Given the description of an element on the screen output the (x, y) to click on. 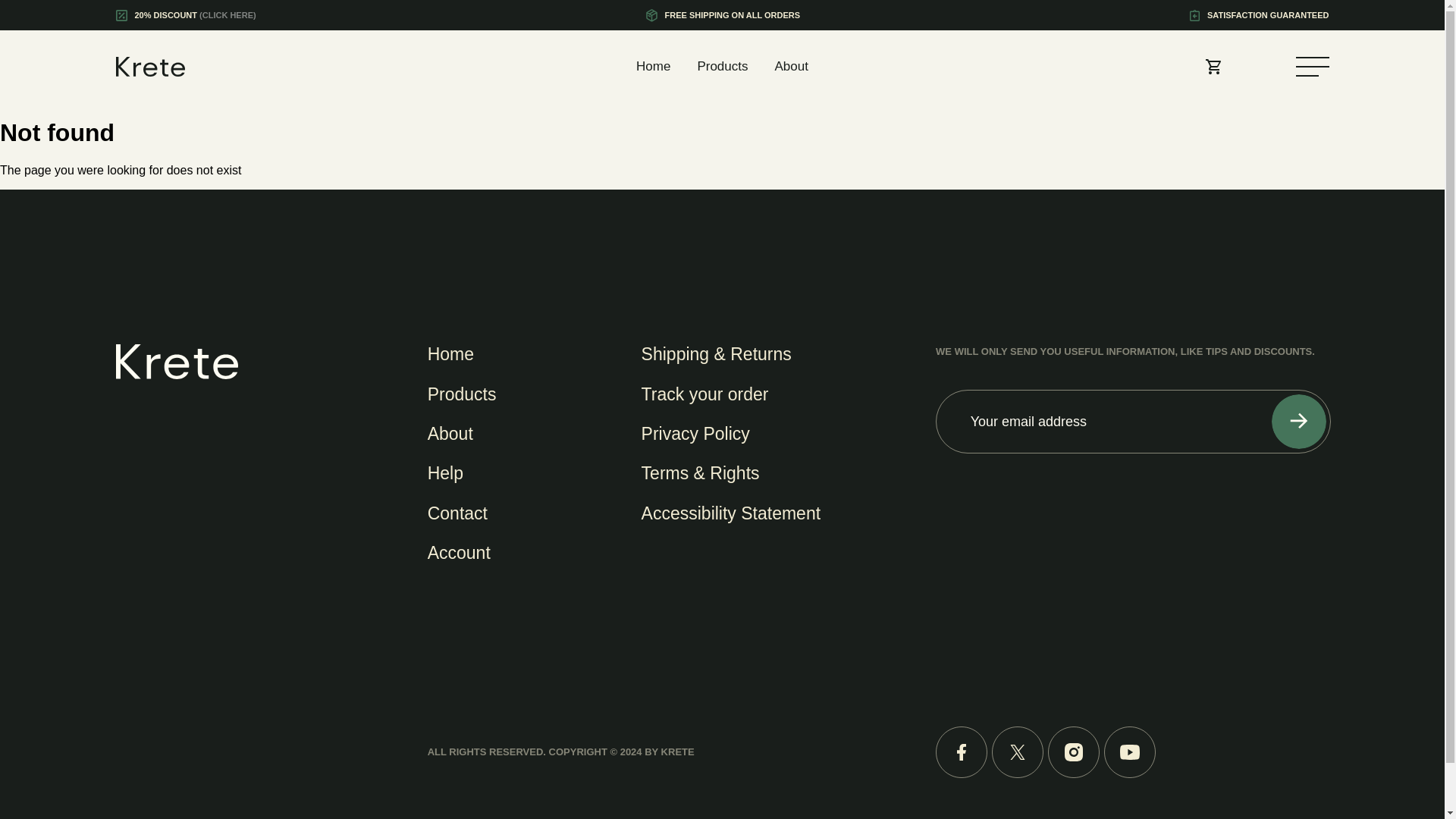
Accessibility Statement (731, 513)
Home (652, 66)
About (791, 66)
Products (722, 66)
Home (451, 353)
Account (459, 552)
Contact (457, 513)
About (450, 433)
Products (462, 393)
Help (445, 473)
Privacy Policy (695, 433)
Track your order (705, 393)
